Given the description of an element on the screen output the (x, y) to click on. 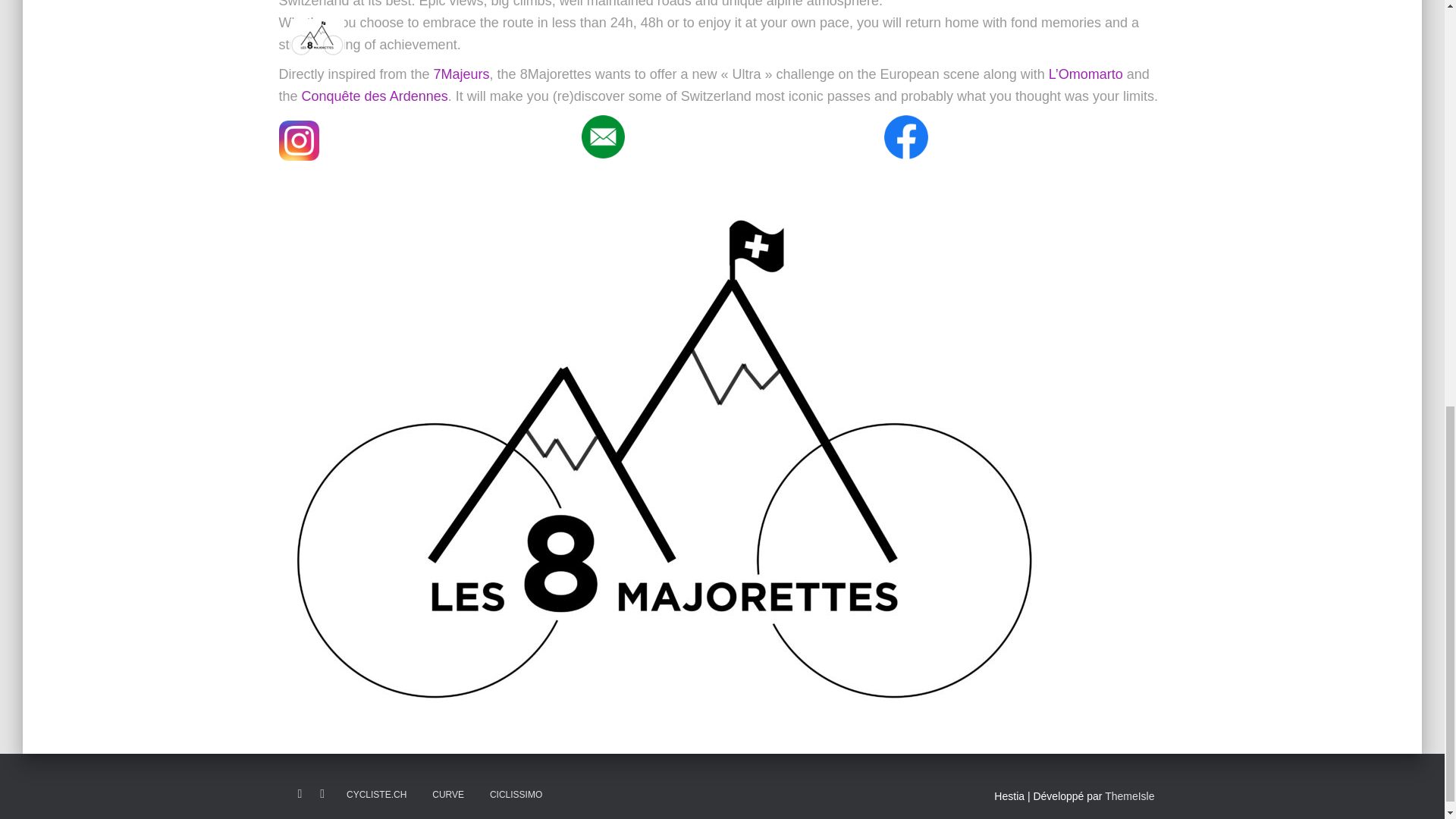
CYCLISTE.CH (375, 795)
CURVE (448, 795)
ThemeIsle (1129, 796)
CICLISSIMO (516, 795)
7Majeurs (461, 73)
